Given the description of an element on the screen output the (x, y) to click on. 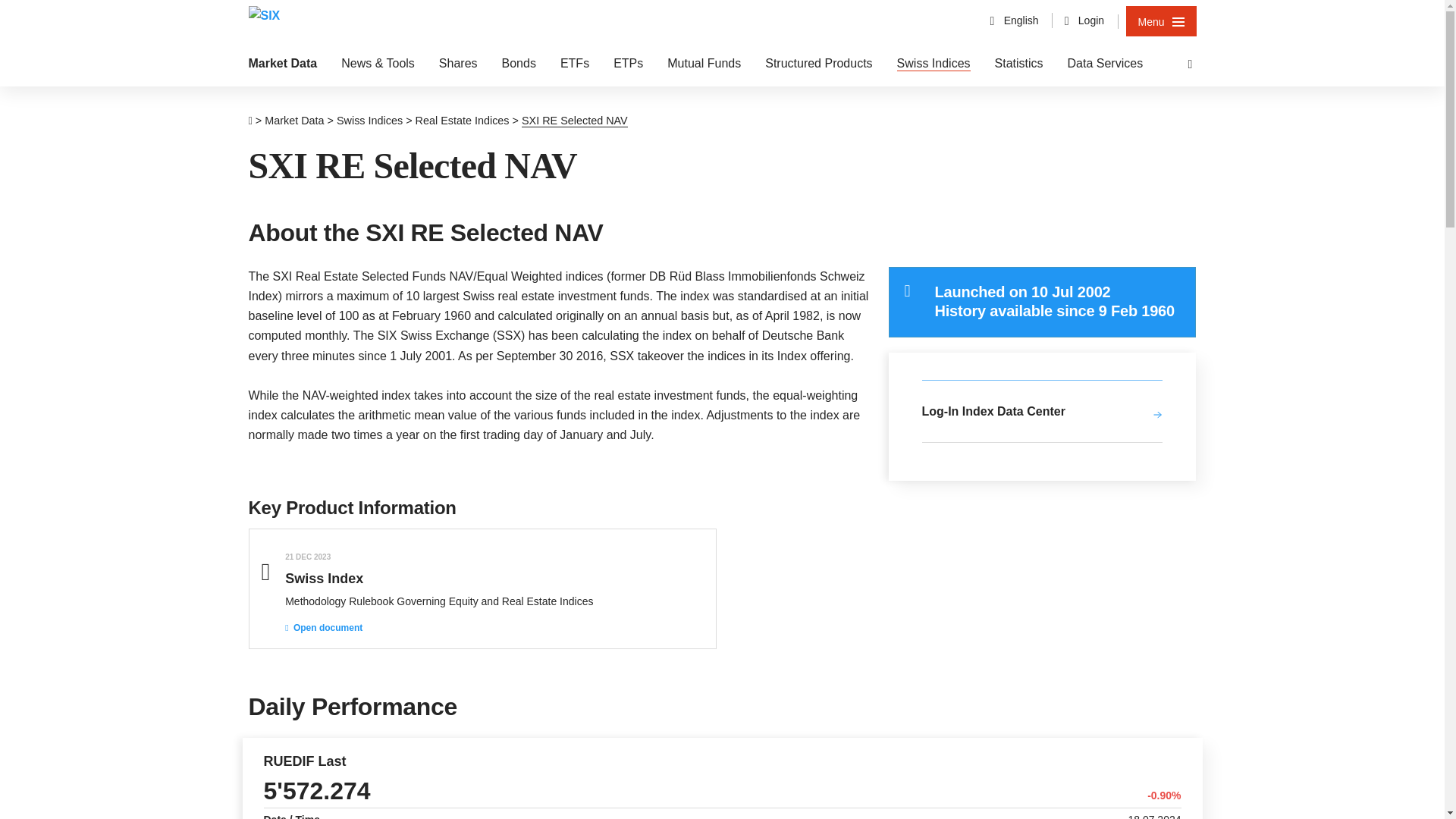
Login (1083, 20)
Menu (1160, 20)
SIX (264, 18)
